Given the description of an element on the screen output the (x, y) to click on. 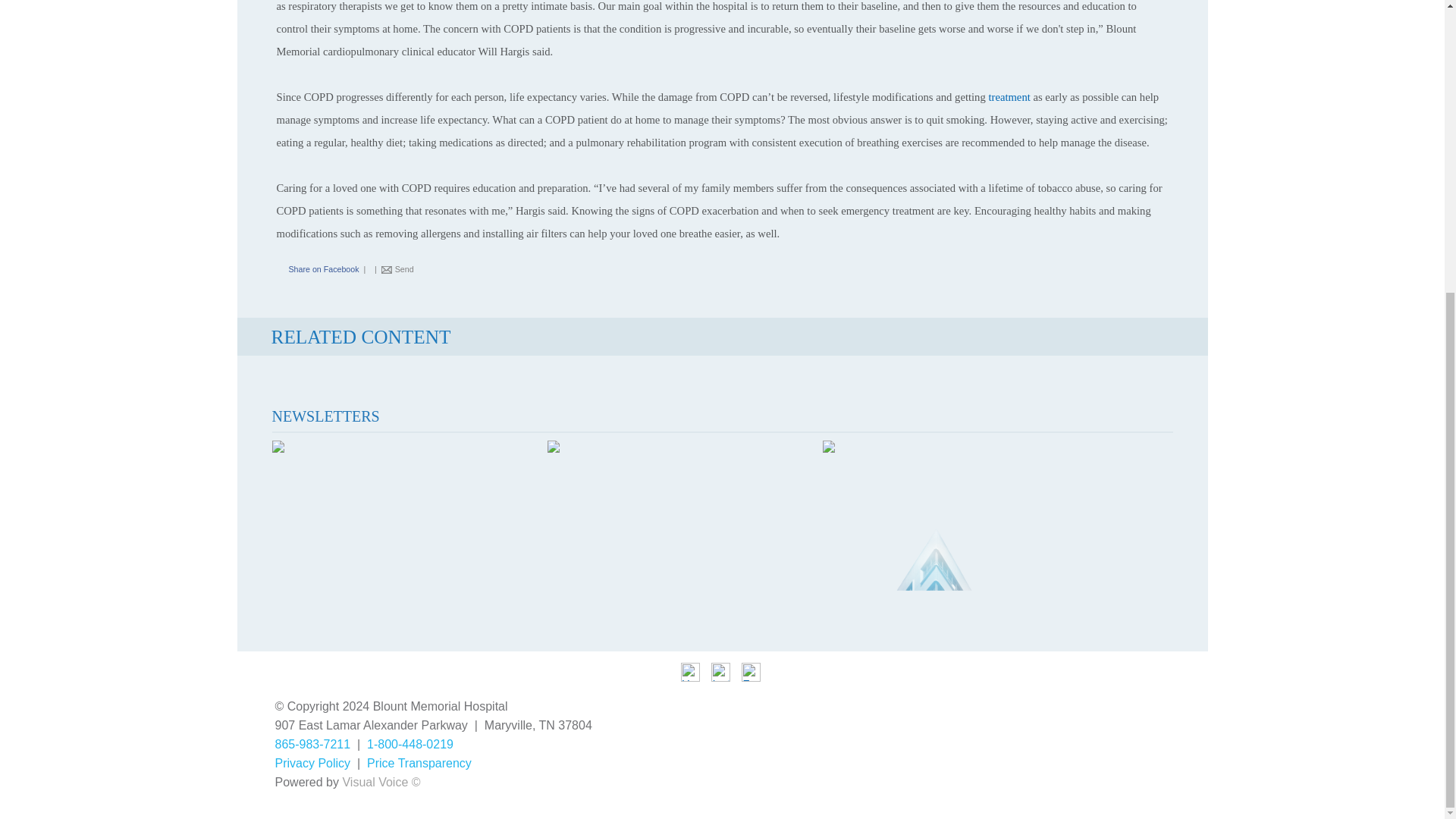
Share on Facebook (315, 267)
Send (403, 268)
865-983-7211 (312, 744)
1-800-448-0219 (409, 744)
Price Transparency (418, 762)
Privacy Policy (312, 762)
treatment (1008, 96)
